Given the description of an element on the screen output the (x, y) to click on. 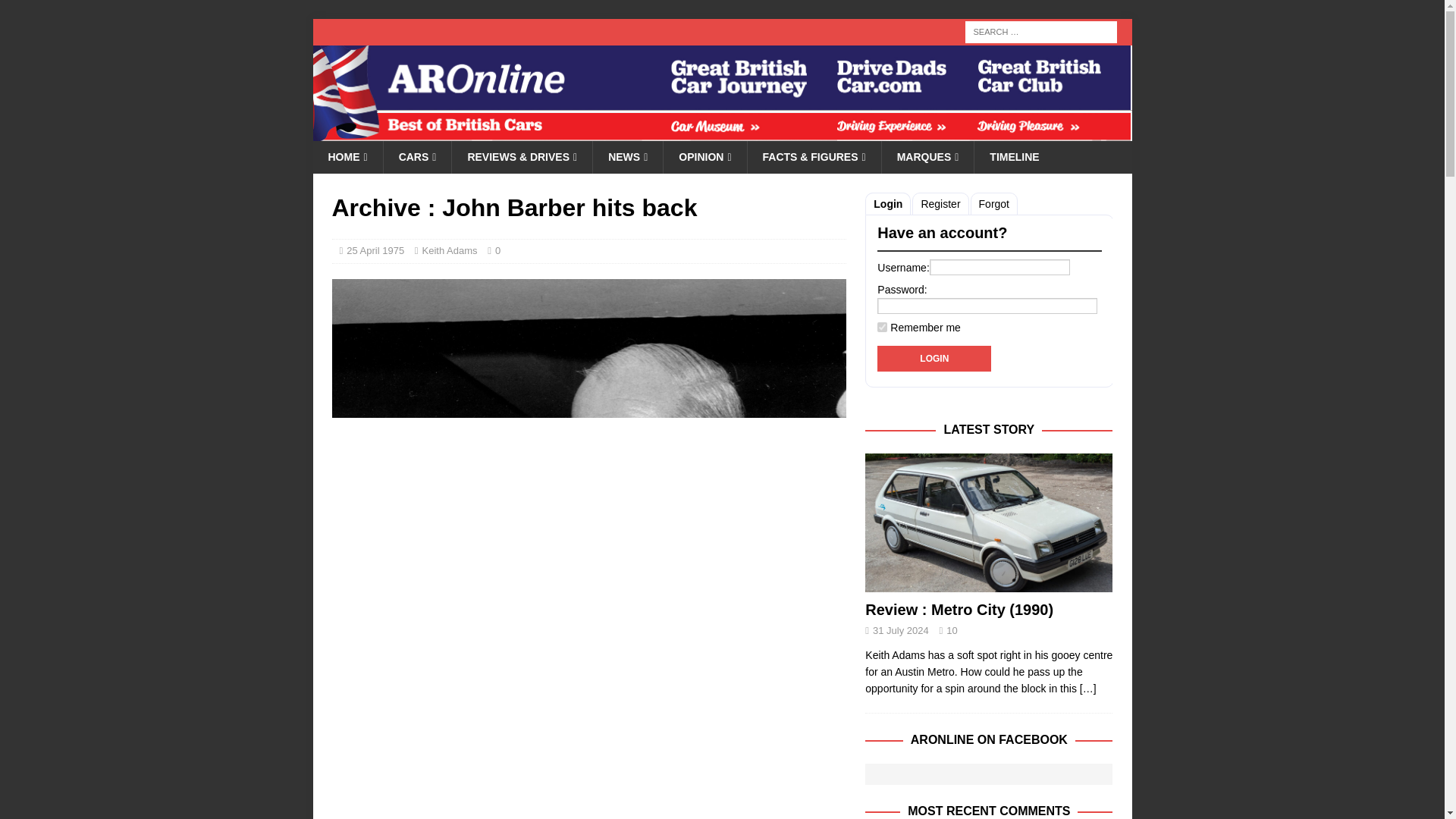
Login (934, 358)
AROnline model histories (416, 156)
forever (881, 327)
Search (56, 11)
AROnline (722, 132)
